Given the description of an element on the screen output the (x, y) to click on. 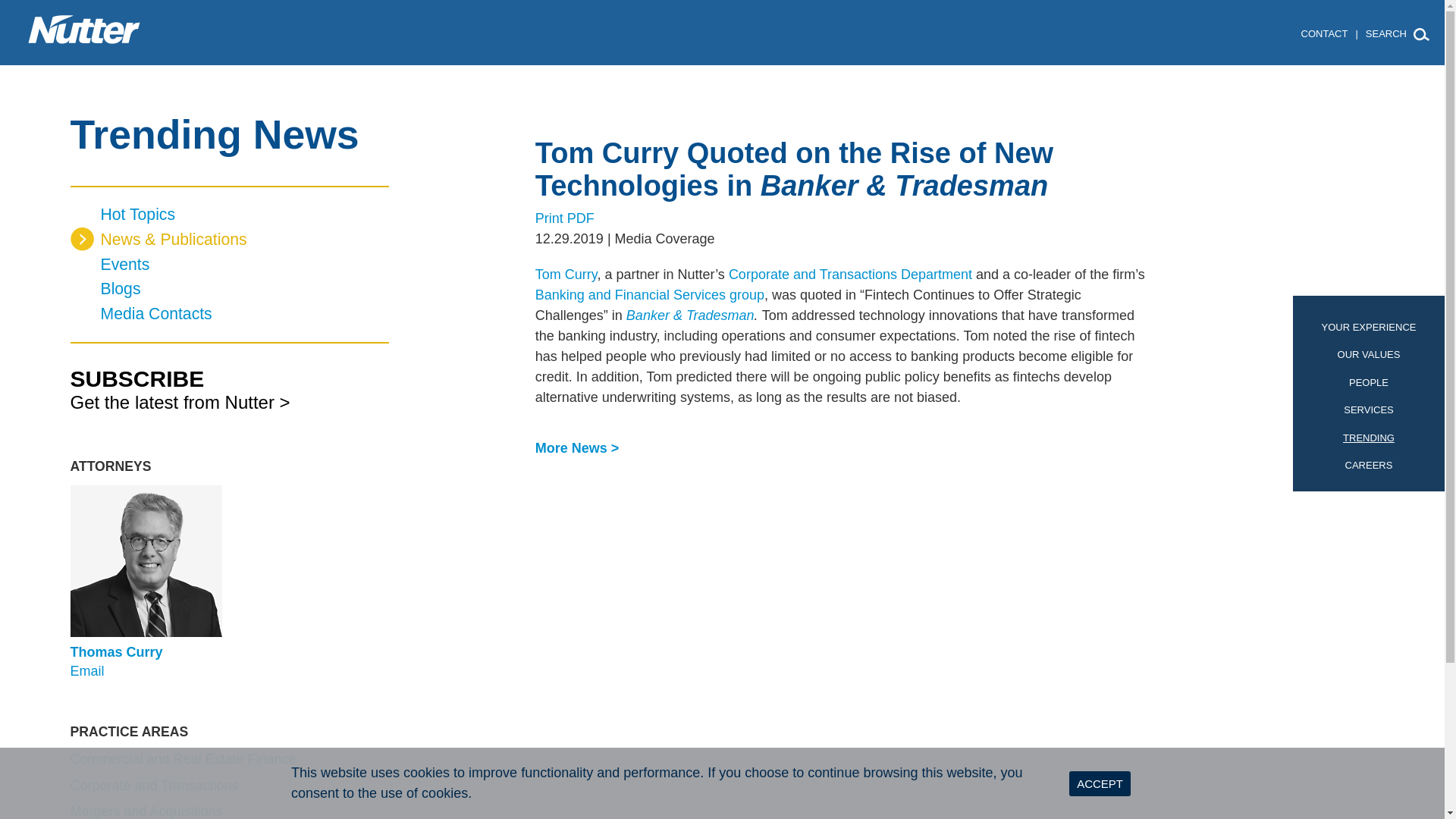
Blogs (228, 289)
Thomas Curry (115, 652)
Hot Topics (228, 214)
ACCEPT (1099, 782)
Email (86, 670)
Commercial and Real Estate Finance (182, 758)
CONTACT (1324, 33)
Events (228, 264)
Corporate and Transactions Department (850, 273)
Media Contacts (228, 314)
